Given the description of an element on the screen output the (x, y) to click on. 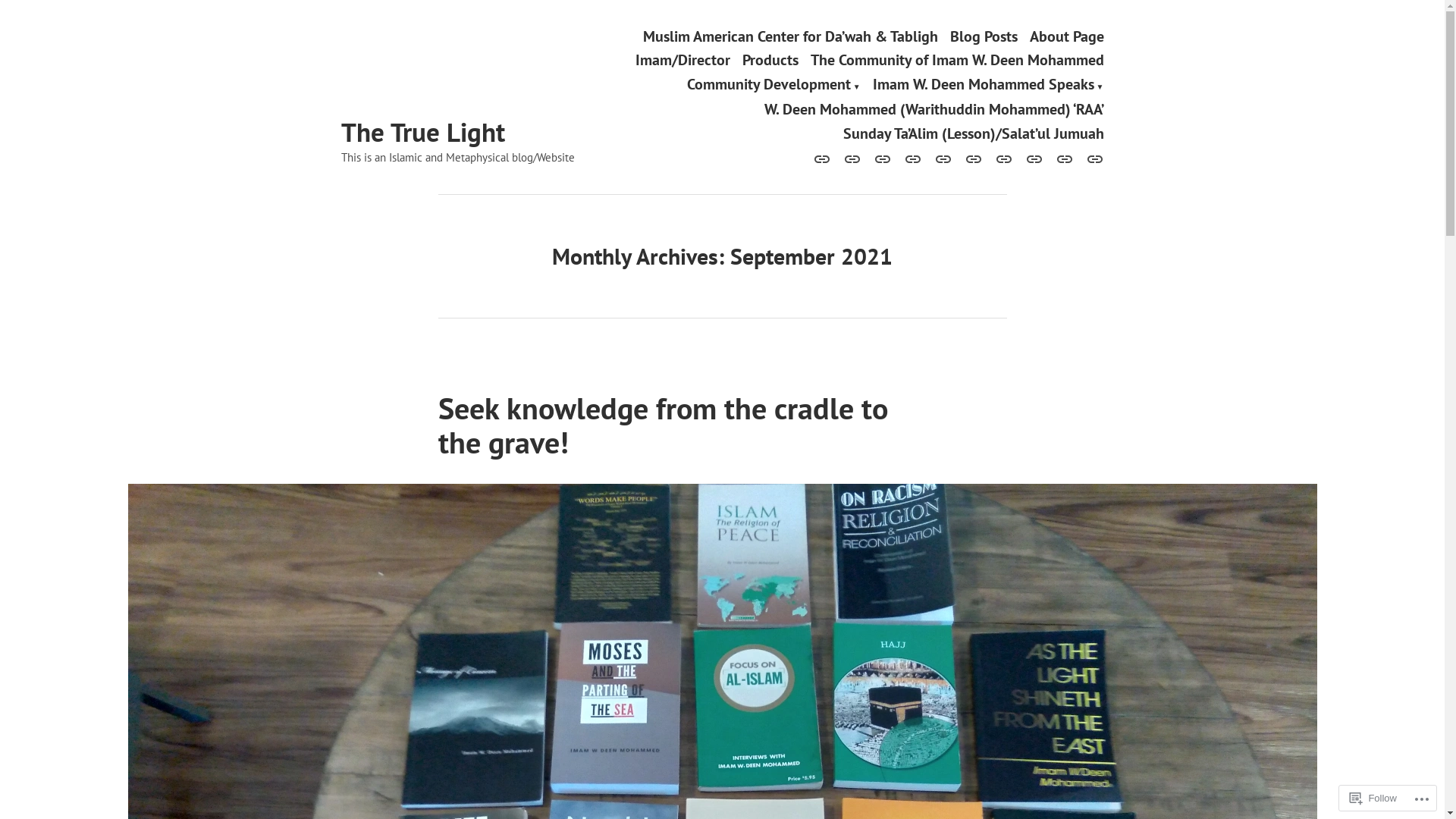
Imam W. Deen Mohammed Speaks Element type: text (988, 84)
Community Development Element type: text (773, 84)
Blog Posts Element type: text (982, 35)
Seek knowledge from the cradle to the grave! Element type: text (663, 424)
The Community of Imam W. Deen Mohammed Element type: text (956, 59)
Follow Element type: text (1372, 797)
About Page Element type: text (1066, 35)
The True Light Element type: text (423, 131)
Products Element type: text (769, 59)
Imam/Director Element type: text (682, 59)
